Given the description of an element on the screen output the (x, y) to click on. 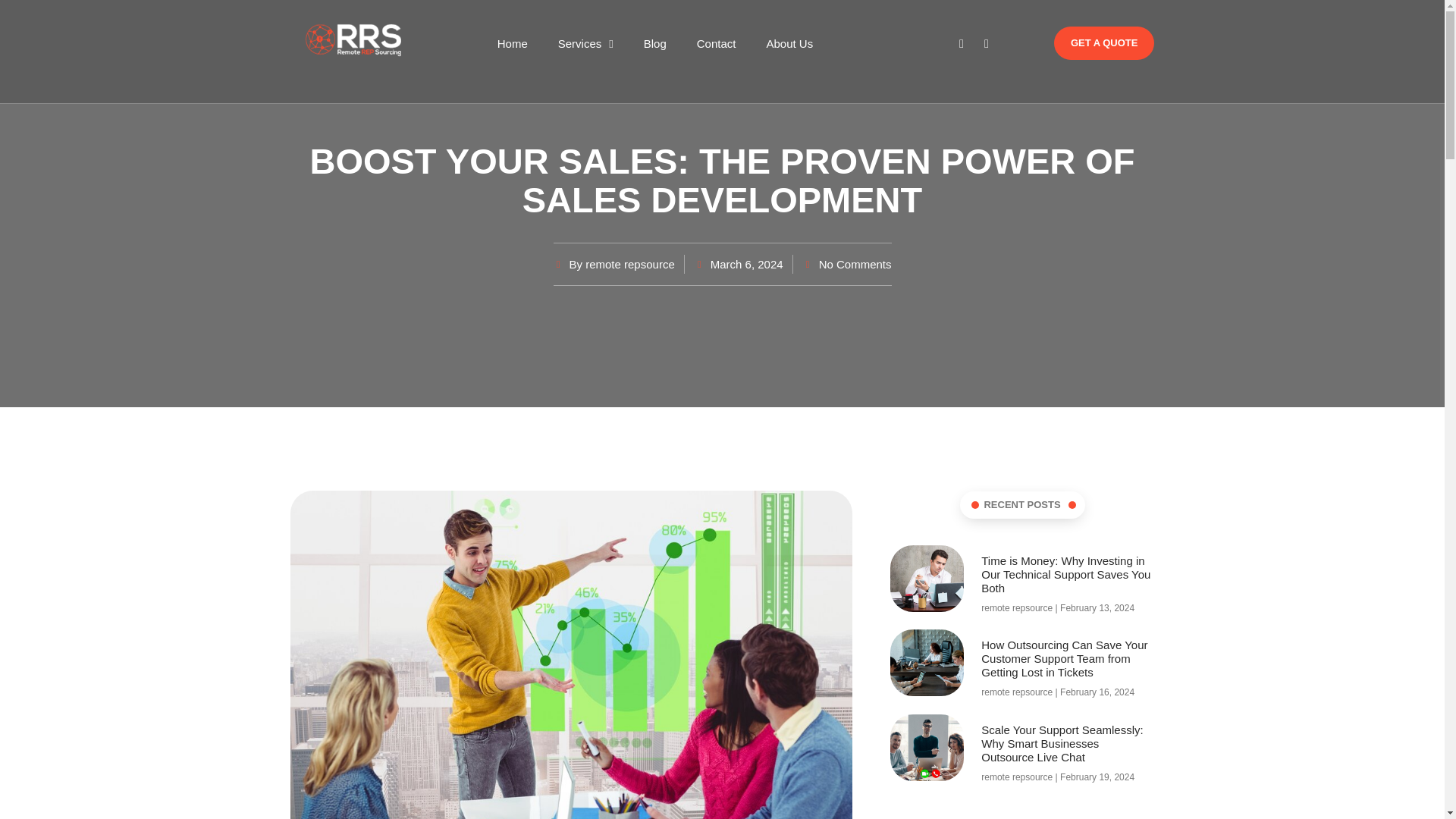
About Us (788, 43)
March 6, 2024 (738, 264)
Contact (716, 43)
By remote repsource (614, 264)
No Comments (847, 264)
GET A QUOTE (1104, 42)
Blog (654, 43)
Home (512, 43)
Services (584, 43)
